Given the description of an element on the screen output the (x, y) to click on. 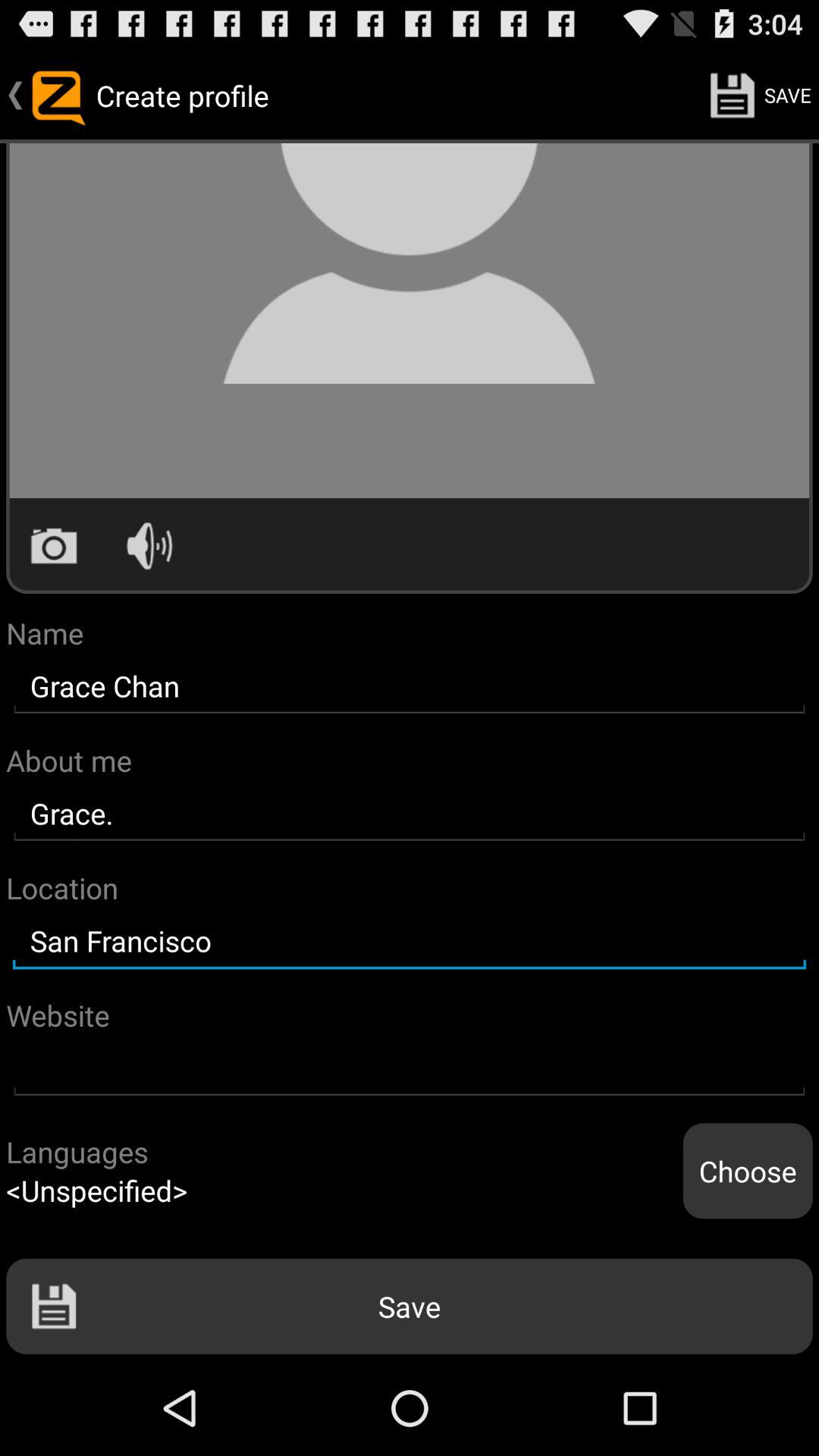
add website (409, 1068)
